Given the description of an element on the screen output the (x, y) to click on. 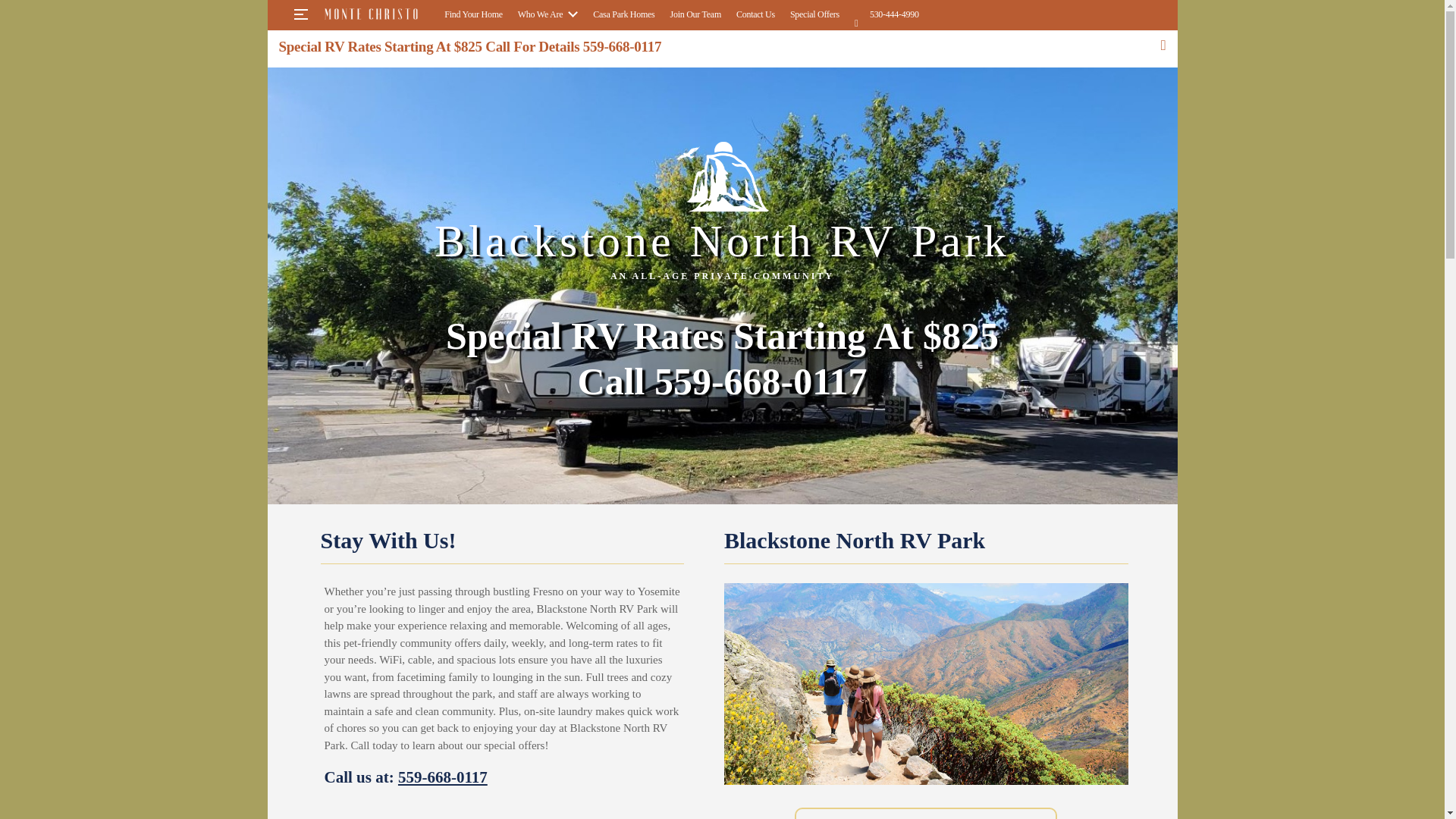
Special Offers (815, 14)
Who We Are (548, 14)
Casa Park Homes (622, 14)
Join Our Team (694, 14)
530-444-4990 (886, 11)
Contact Us (755, 14)
Find Your Home (473, 14)
REQUEST A RESERVATION (925, 813)
559-668-0117 (442, 777)
